Given the description of an element on the screen output the (x, y) to click on. 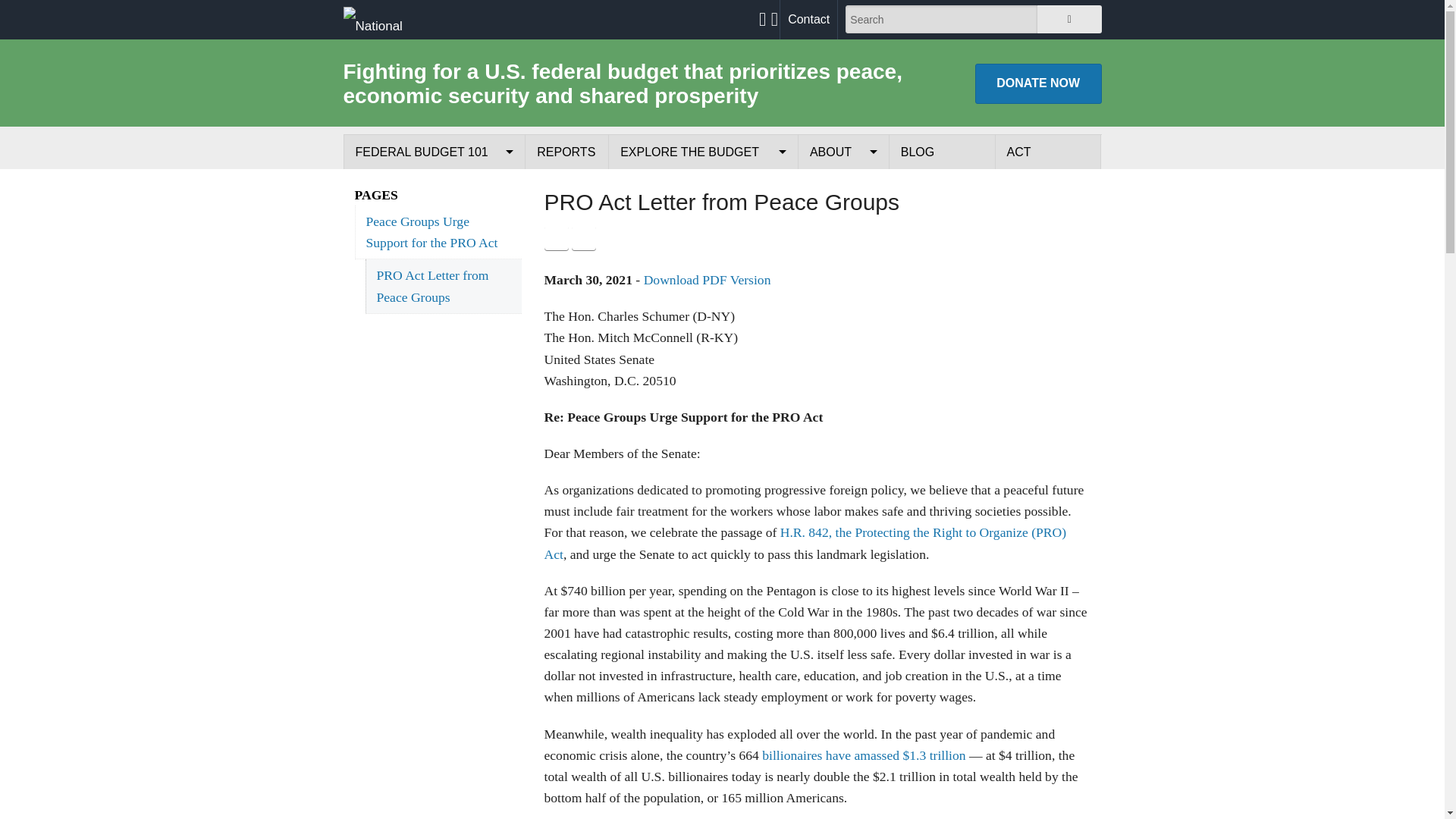
National Priorities Project (390, 19)
BLOG (941, 151)
Federal Budget Glossary (433, 326)
Peace Groups Urge Support for the PRO Act (438, 232)
Download PDF Version (707, 279)
Federal Budget Process (433, 186)
REPORTS (566, 151)
Borrowing and the Federal Debt (433, 291)
History (843, 221)
Your Tax Receipt (703, 186)
